Given the description of an element on the screen output the (x, y) to click on. 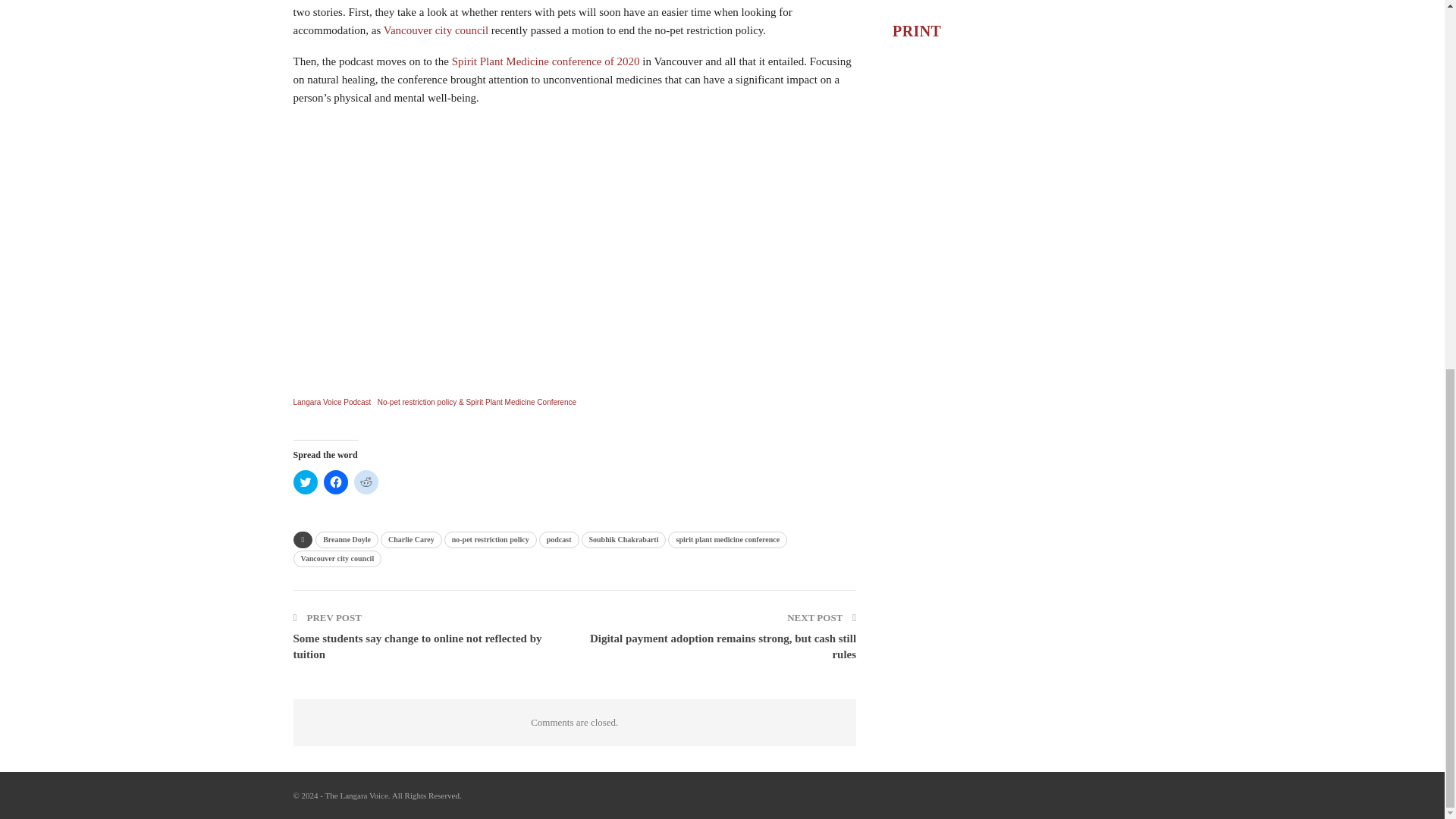
Click to share on Facebook (335, 482)
Spirit Plant Medicine conference of 2020 (545, 61)
Langara Voice Podcast (331, 402)
Charlie Carey (411, 539)
Click to share on Reddit (365, 482)
Vancouver city council (435, 30)
Click to share on Twitter (304, 482)
no-pet restriction policy (490, 539)
Langara Voice Podcast (331, 402)
Breanne Doyle (346, 539)
podcast (558, 539)
